Given the description of an element on the screen output the (x, y) to click on. 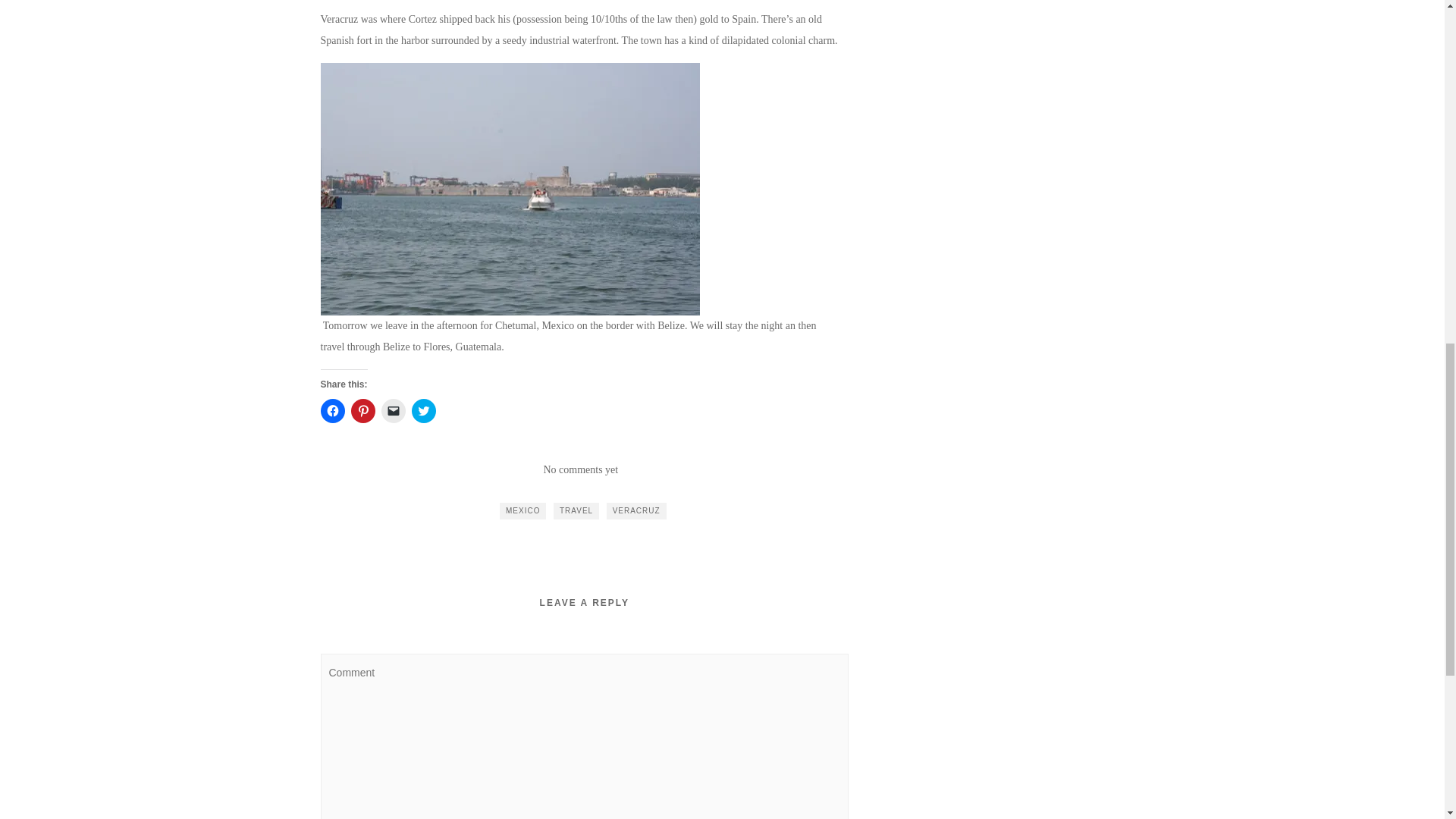
Click to share on Facebook (331, 410)
MEXICO (522, 510)
No comments yet (580, 469)
Click to share on Pinterest (362, 410)
Click to share on Twitter (422, 410)
TRAVEL (575, 510)
Click to email a link to a friend (392, 410)
Veracruz Harbor by ssichler, on Flickr (509, 187)
VERACRUZ (636, 510)
